Given the description of an element on the screen output the (x, y) to click on. 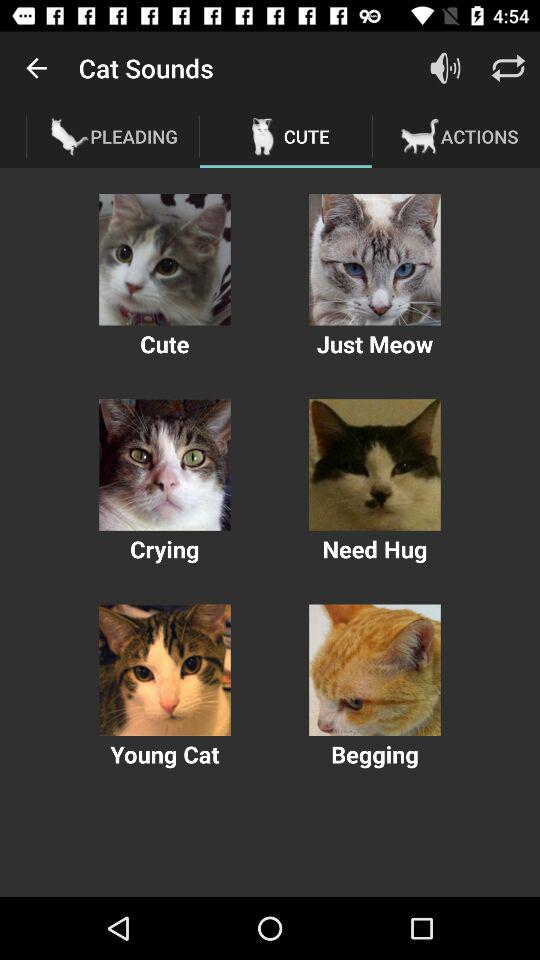
refresh (508, 67)
